Given the description of an element on the screen output the (x, y) to click on. 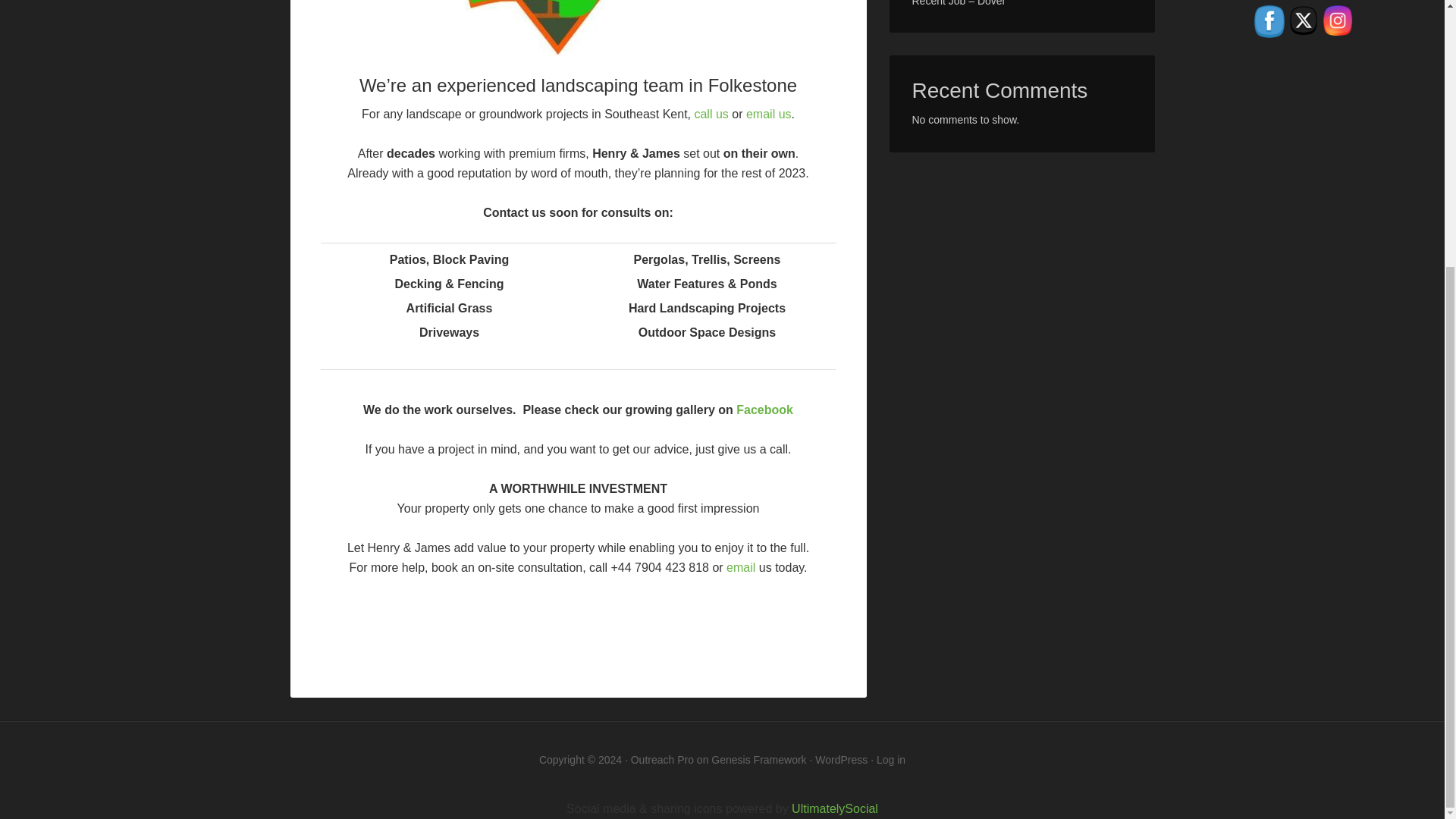
Genesis Framework (758, 759)
email (740, 567)
Outreach Pro (662, 759)
email us (768, 113)
Log in (890, 759)
Facebook (1268, 20)
WordPress (841, 759)
Twitter (1303, 20)
UltimatelySocial (834, 808)
Instagram (1337, 20)
